Given the description of an element on the screen output the (x, y) to click on. 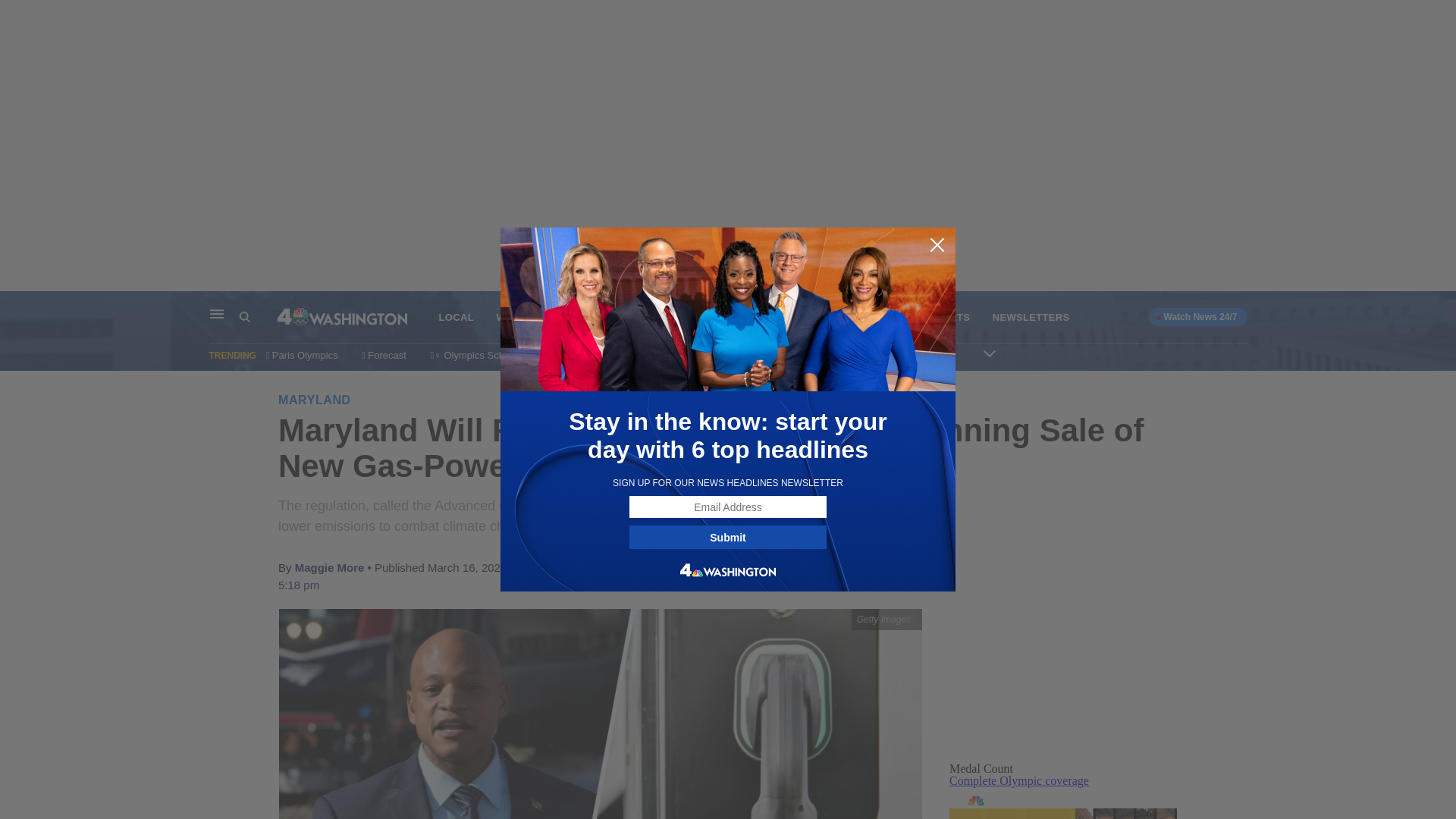
THE SCENE (767, 317)
Our news standards (903, 355)
SPORTS (948, 317)
Maggie More (330, 567)
OLYMPICS (595, 317)
NEWSLETTERS (1031, 317)
Search (244, 316)
Expand (989, 353)
Main Navigation (216, 313)
Search (257, 316)
